Given the description of an element on the screen output the (x, y) to click on. 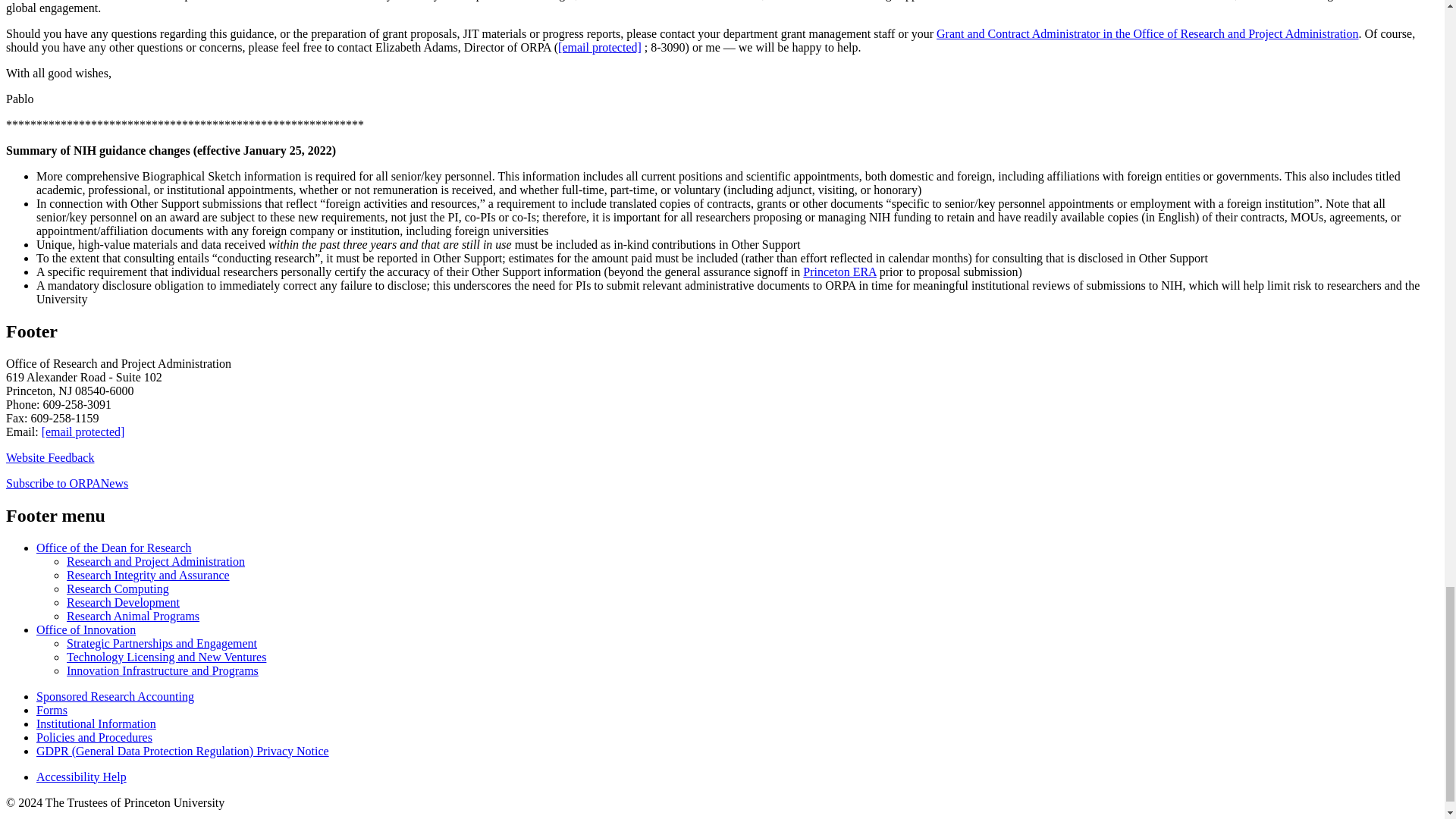
Policies and Procedures (94, 737)
Forms (51, 709)
Institutional Information (95, 723)
Sponsored Research Accounting (114, 696)
